Given the description of an element on the screen output the (x, y) to click on. 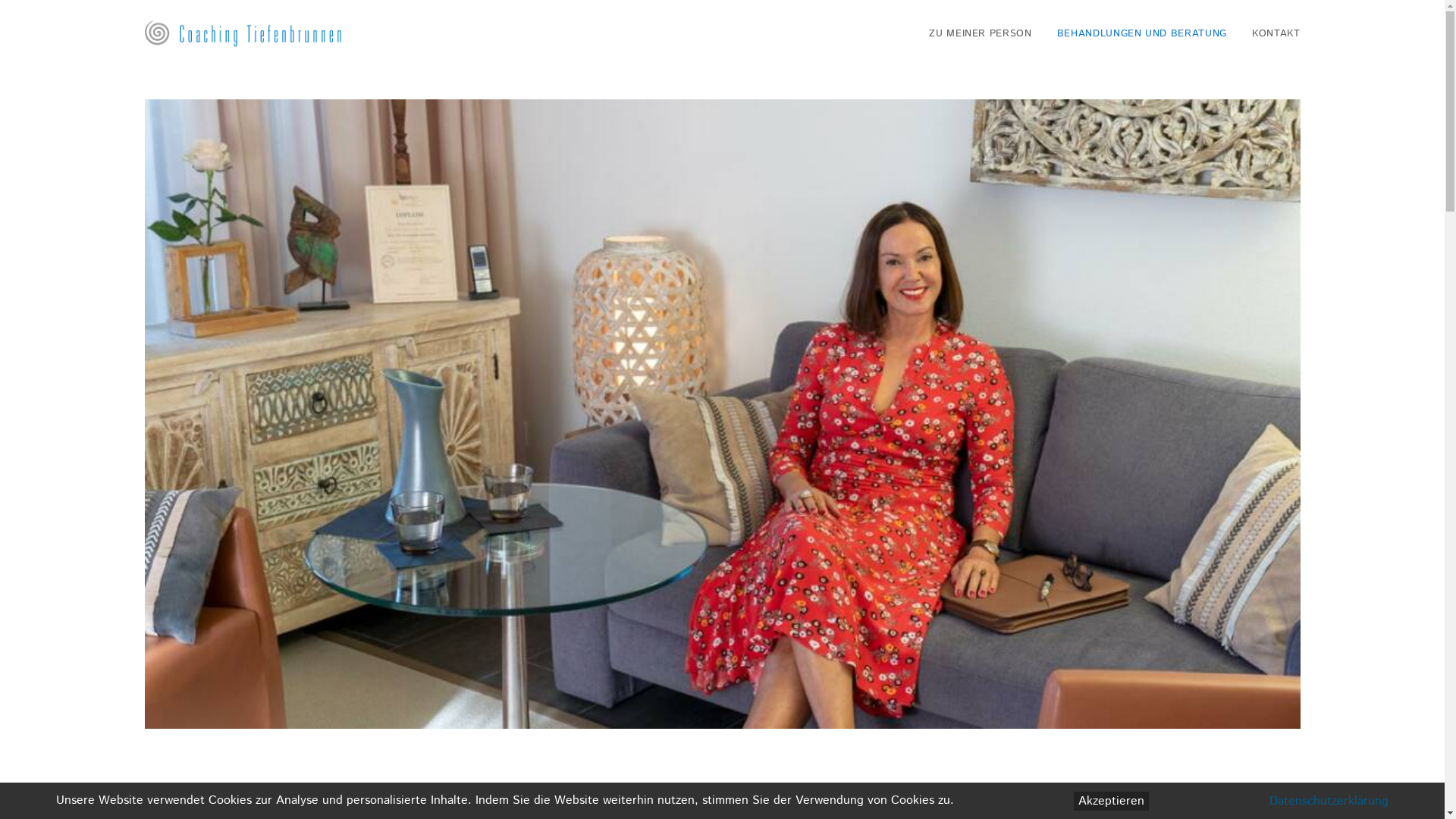
ZU MEINER PERSON Element type: text (984, 33)
KONTAKT Element type: text (1270, 33)
Akzeptieren Element type: text (1110, 800)
BEHANDLUNGEN UND BERATUNG Element type: text (1141, 33)
